Given the description of an element on the screen output the (x, y) to click on. 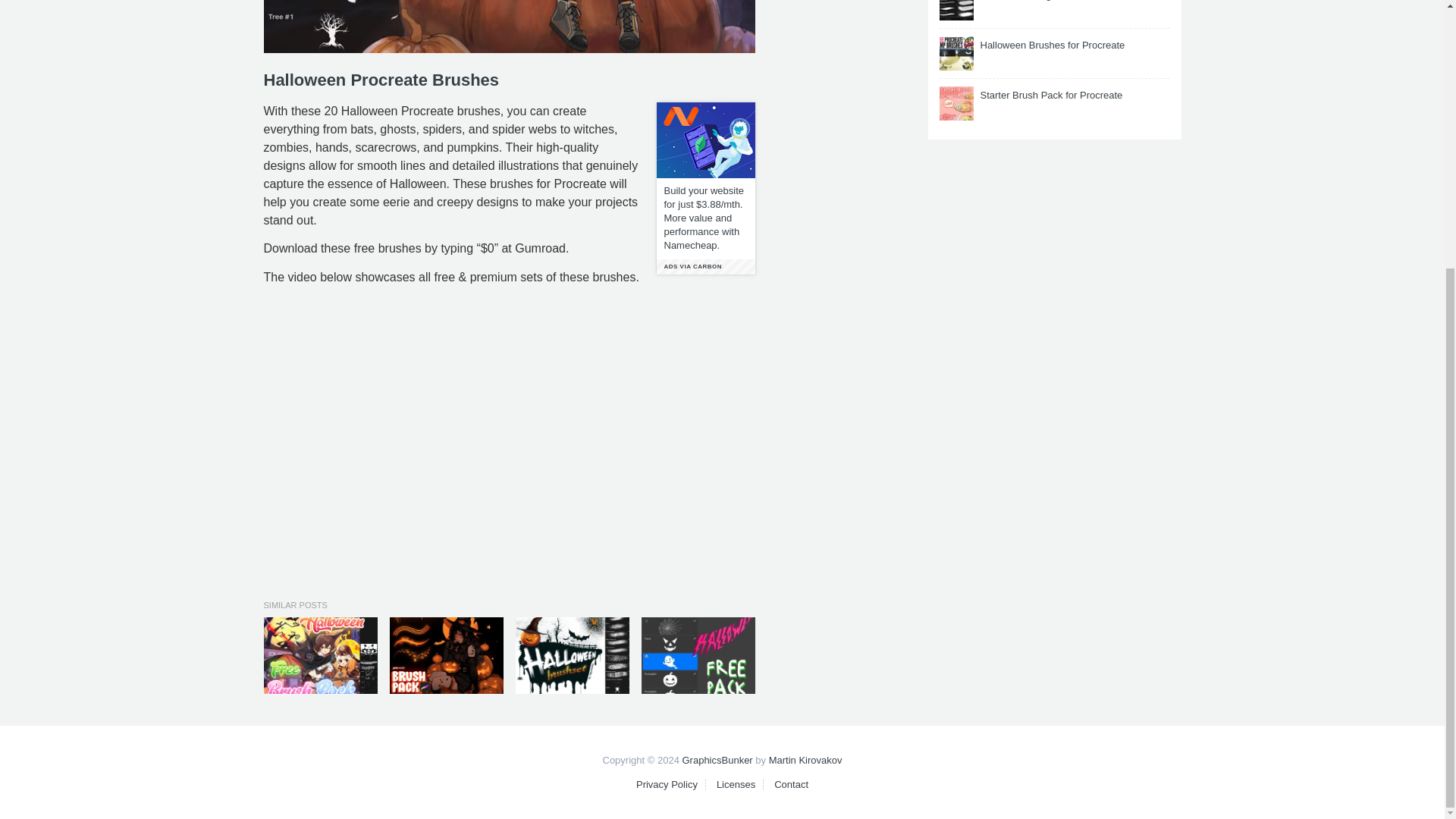
Halloween Procreate Brushes (509, 26)
ADS VIA CARBON (705, 266)
